Given the description of an element on the screen output the (x, y) to click on. 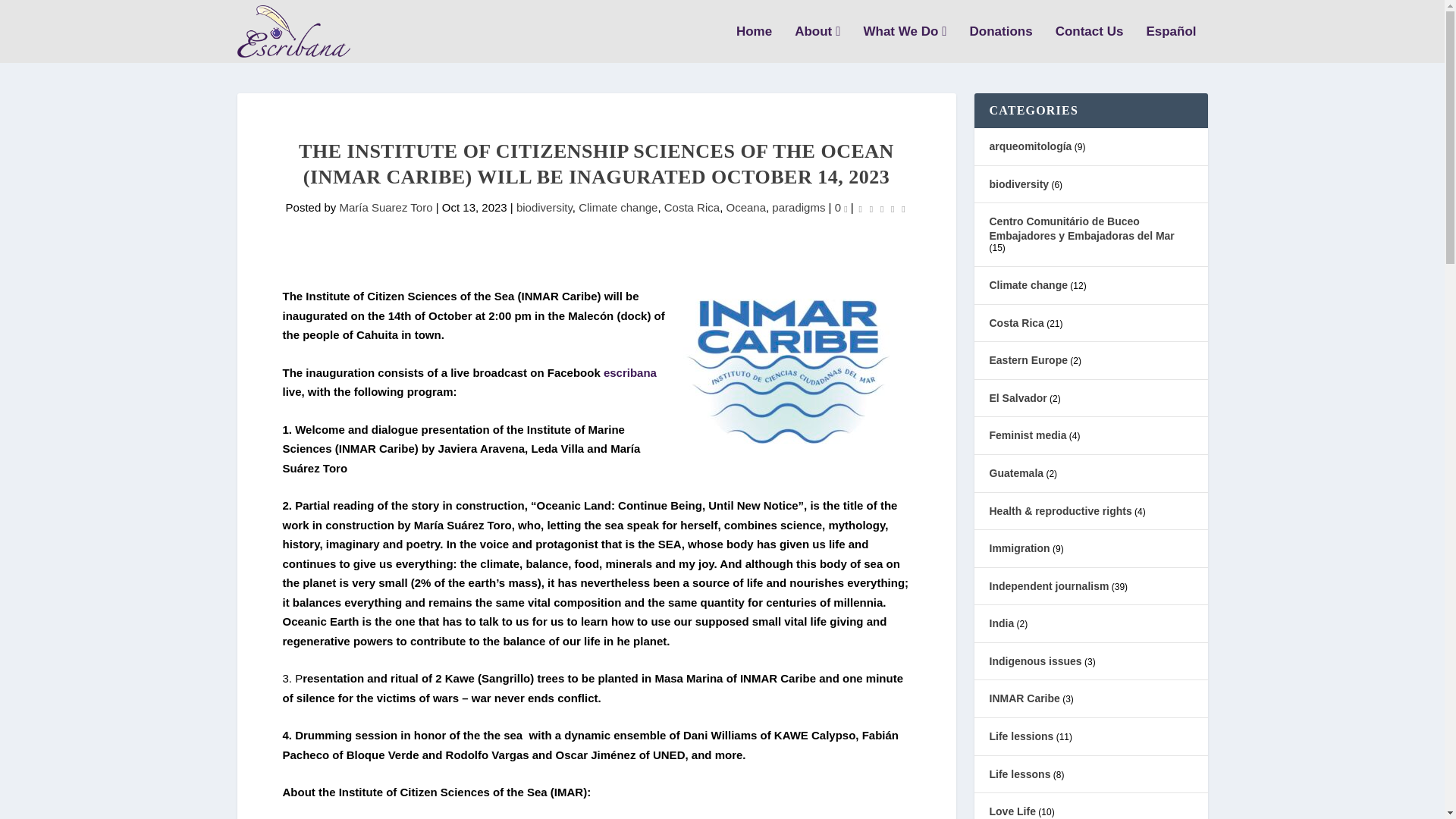
escribana (630, 372)
What We Do (904, 44)
paradigms (798, 206)
Home (753, 44)
About (817, 44)
0 (840, 206)
Contact Us (1089, 44)
biodiversity (544, 206)
Climate change (618, 206)
Costa Rica (691, 206)
Rating: 0.00 (882, 208)
Donations (1000, 44)
Oceana (745, 206)
